Given the description of an element on the screen output the (x, y) to click on. 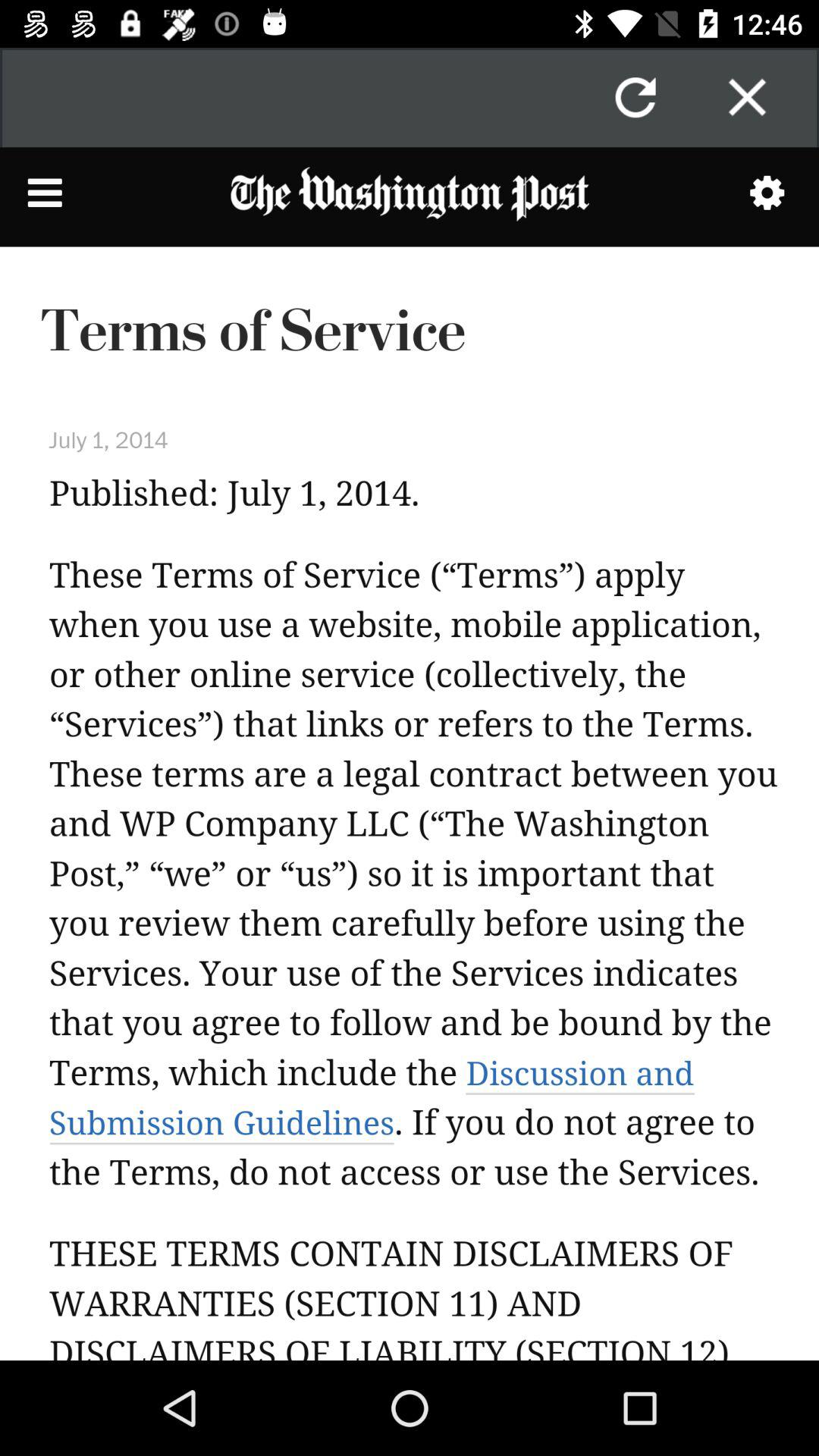
close button (747, 97)
